Given the description of an element on the screen output the (x, y) to click on. 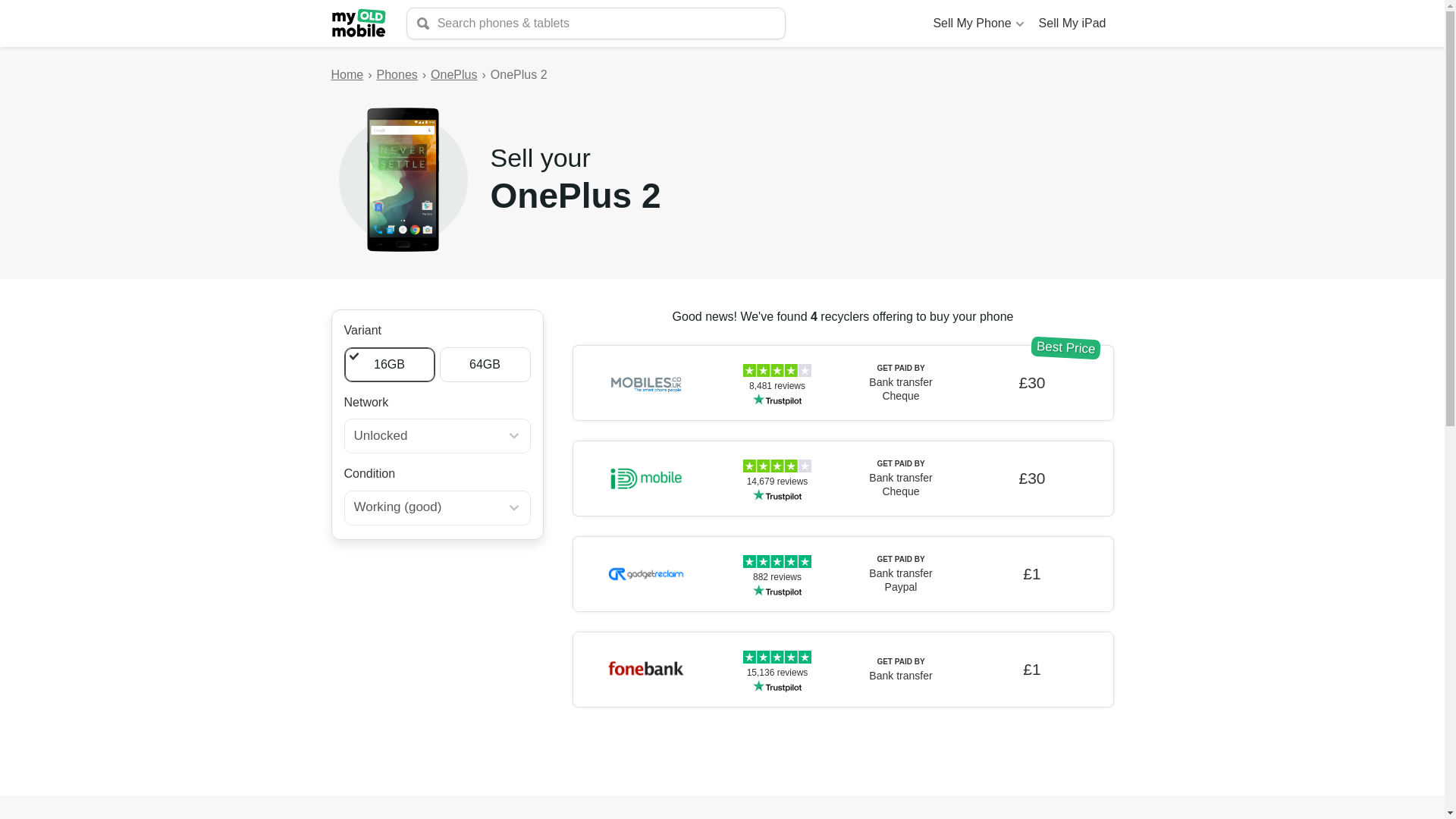
Phones (397, 75)
Sell My Phone (977, 23)
Home (346, 75)
Sell My iPad (1071, 23)
OnePlus (453, 75)
